Given the description of an element on the screen output the (x, y) to click on. 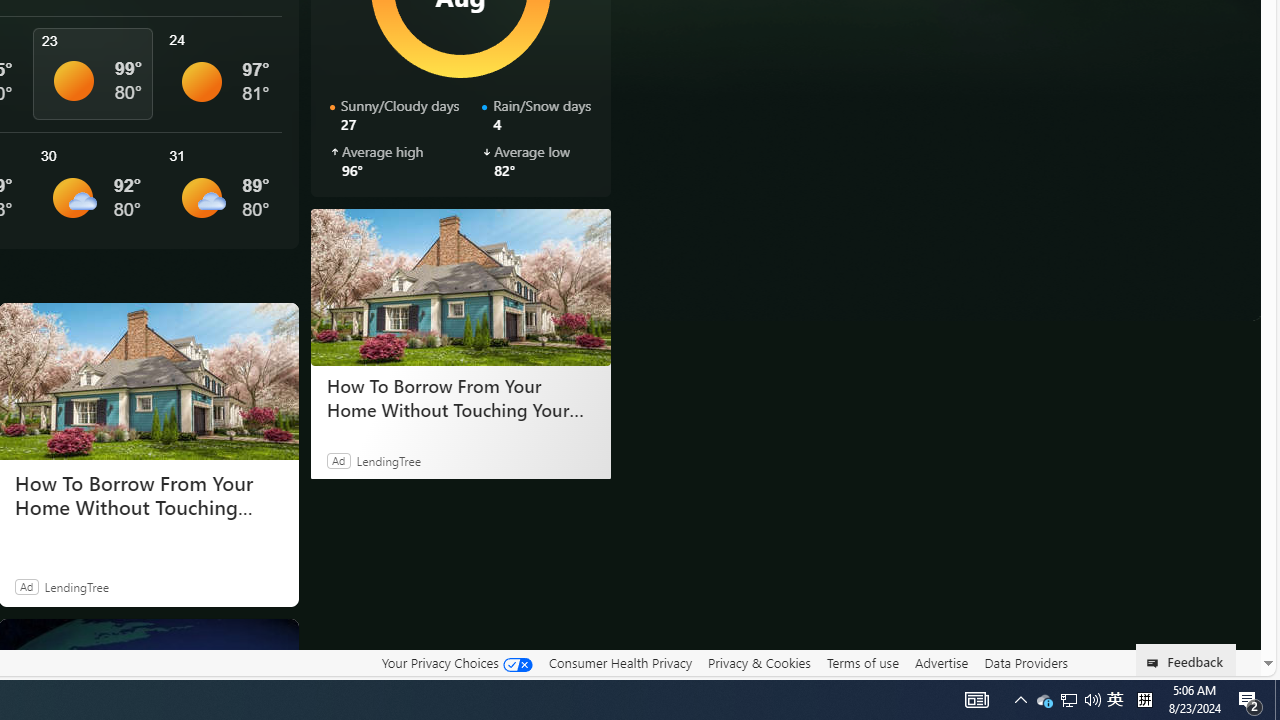
LendingTree (75, 586)
See More Details (221, 190)
Consumer Health Privacy (619, 662)
How To Borrow From Your Home Without Touching Your Mortgage (148, 495)
